Given the description of an element on the screen output the (x, y) to click on. 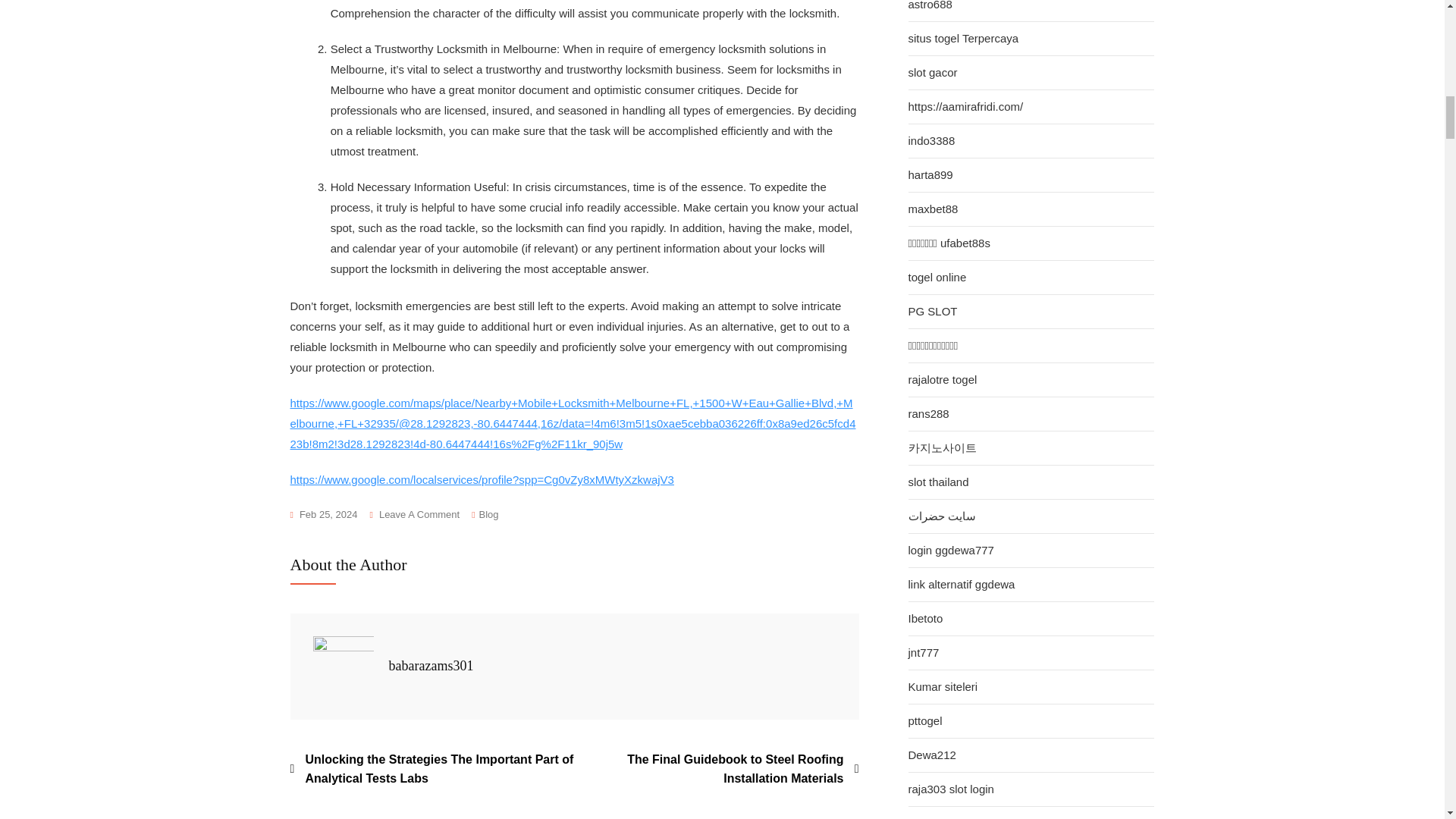
babarazams301 (430, 665)
Feb 25, 2024 (322, 514)
Blog (489, 514)
The Final Guidebook to Steel Roofing Installation Materials (717, 769)
